Given the description of an element on the screen output the (x, y) to click on. 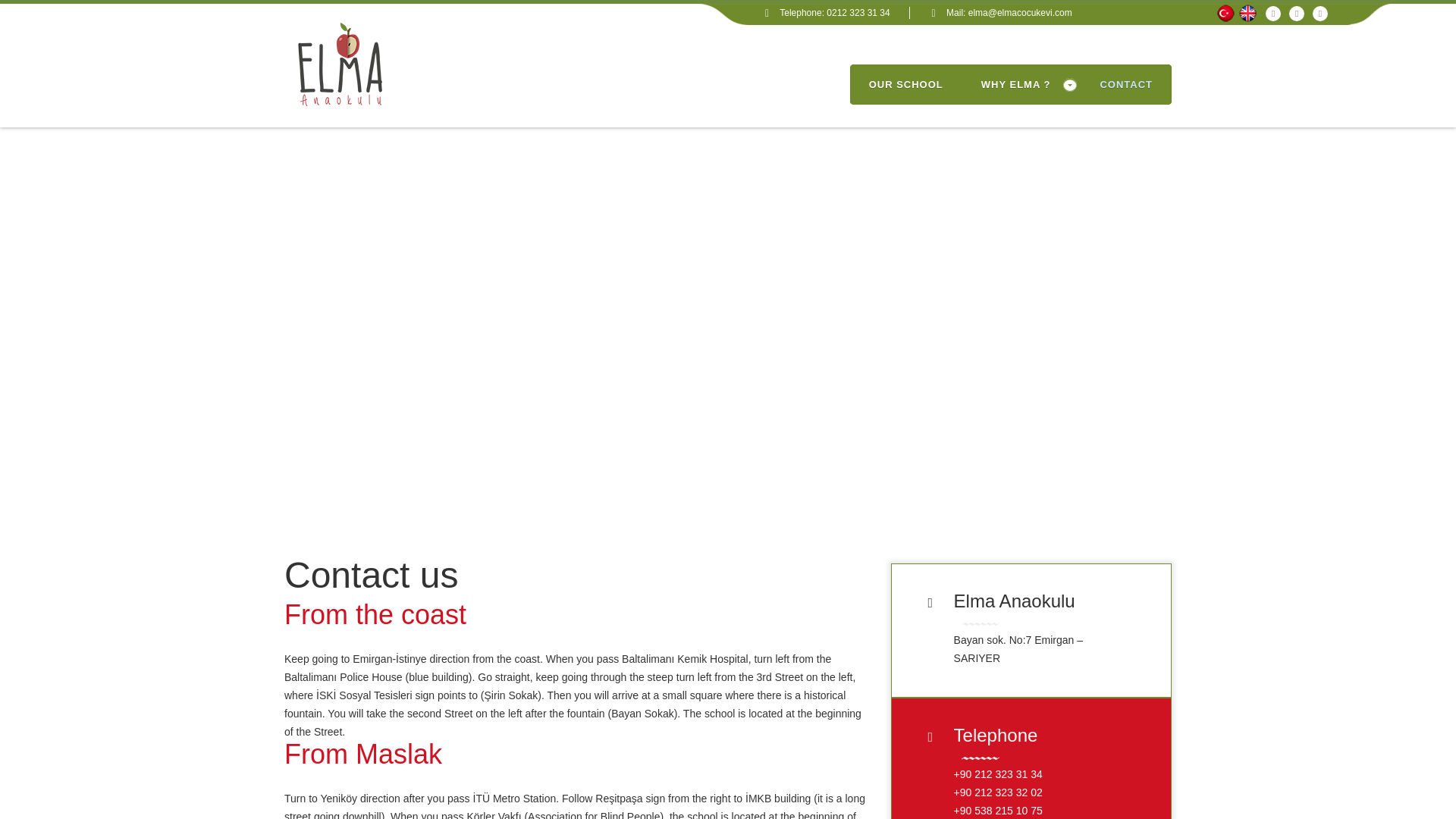
OUR SCHOOL (906, 84)
WHY ELMA ? (1021, 84)
CONTACT (1126, 84)
